Given the description of an element on the screen output the (x, y) to click on. 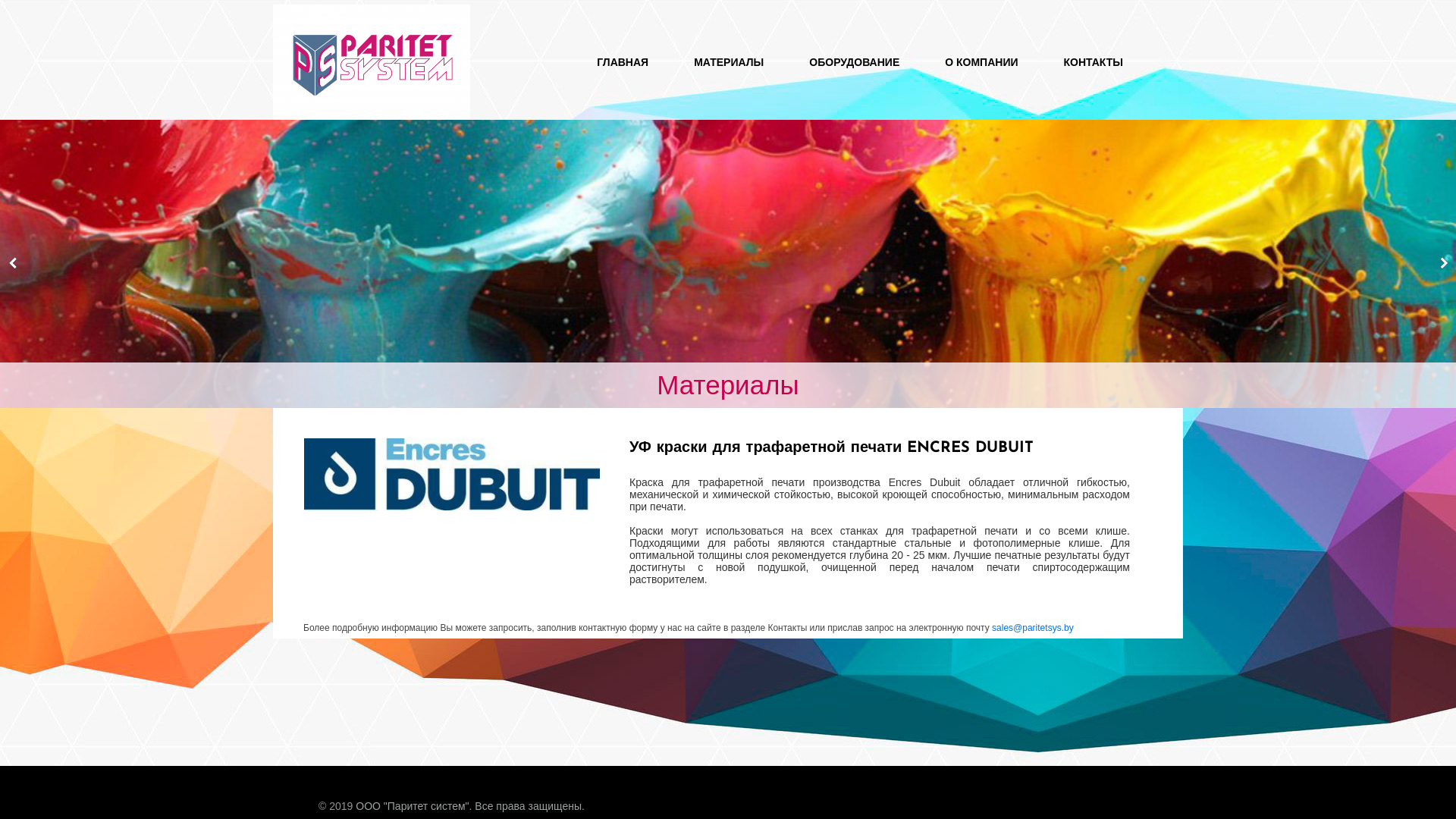
sales@paritetsys.by Element type: text (1032, 627)
